Given the description of an element on the screen output the (x, y) to click on. 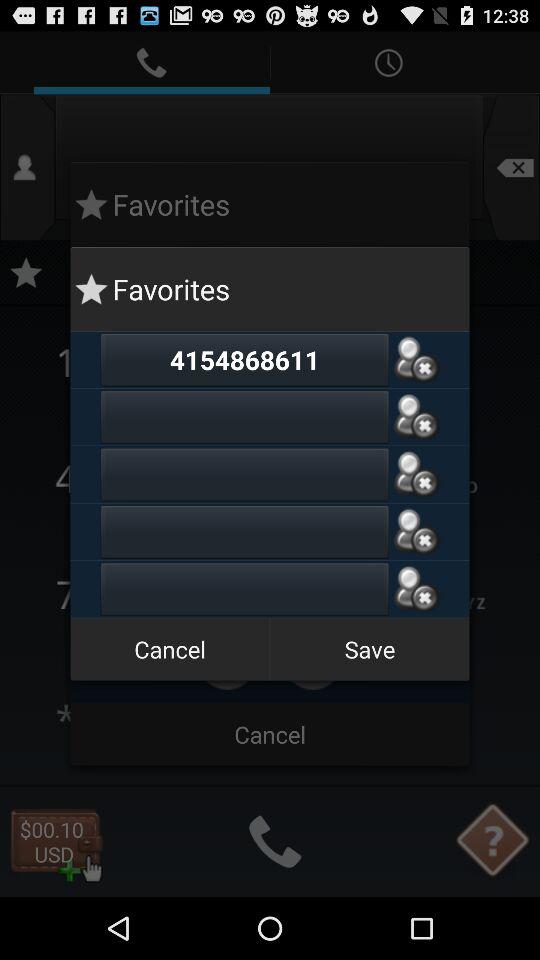
delete entry (416, 531)
